Given the description of an element on the screen output the (x, y) to click on. 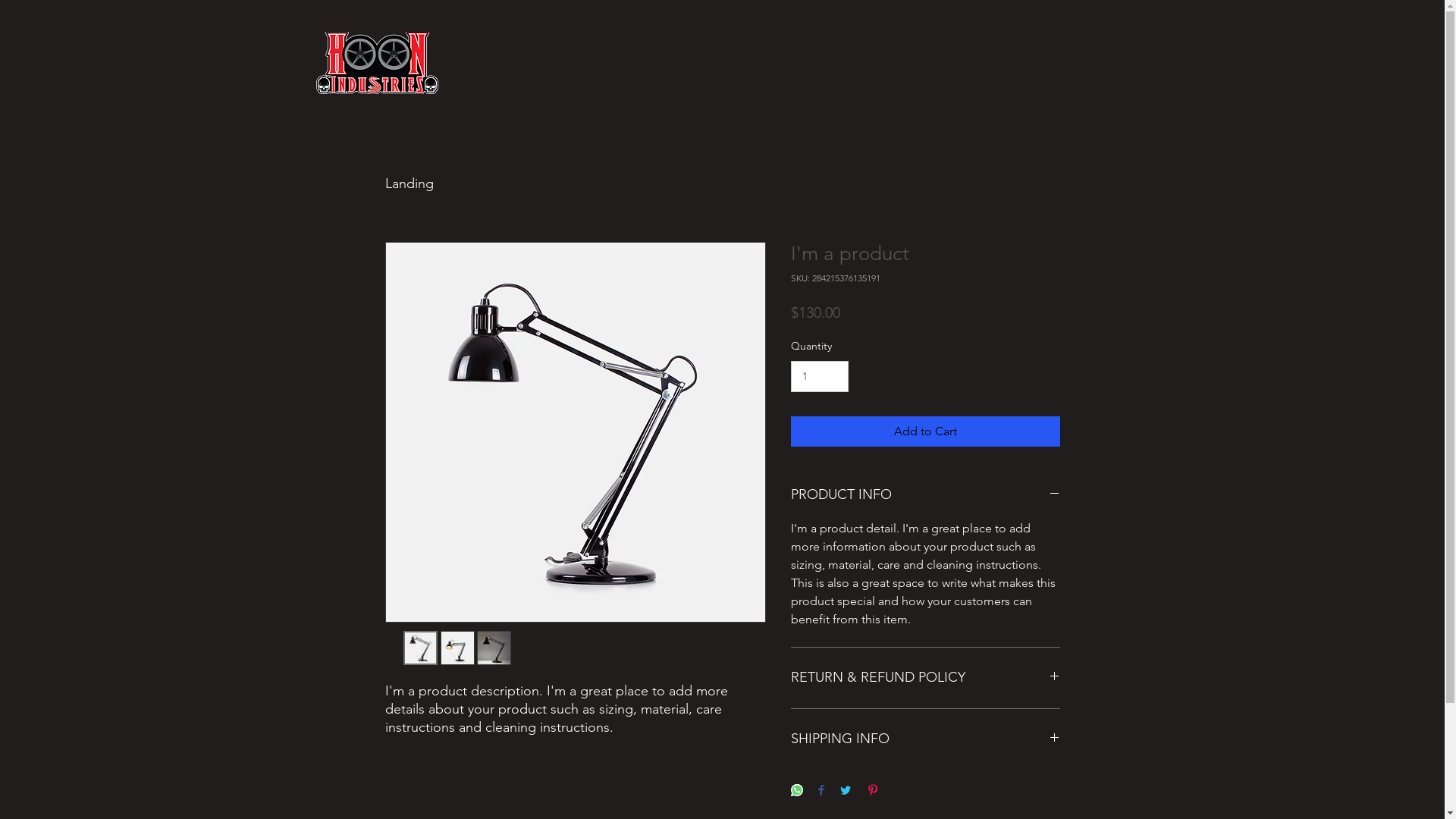
Add to Cart Element type: text (924, 431)
PRODUCT INFO Element type: text (924, 495)
Landing Element type: text (409, 183)
RETURN & REFUND POLICY Element type: text (924, 677)
SHIPPING INFO Element type: text (924, 739)
